Given the description of an element on the screen output the (x, y) to click on. 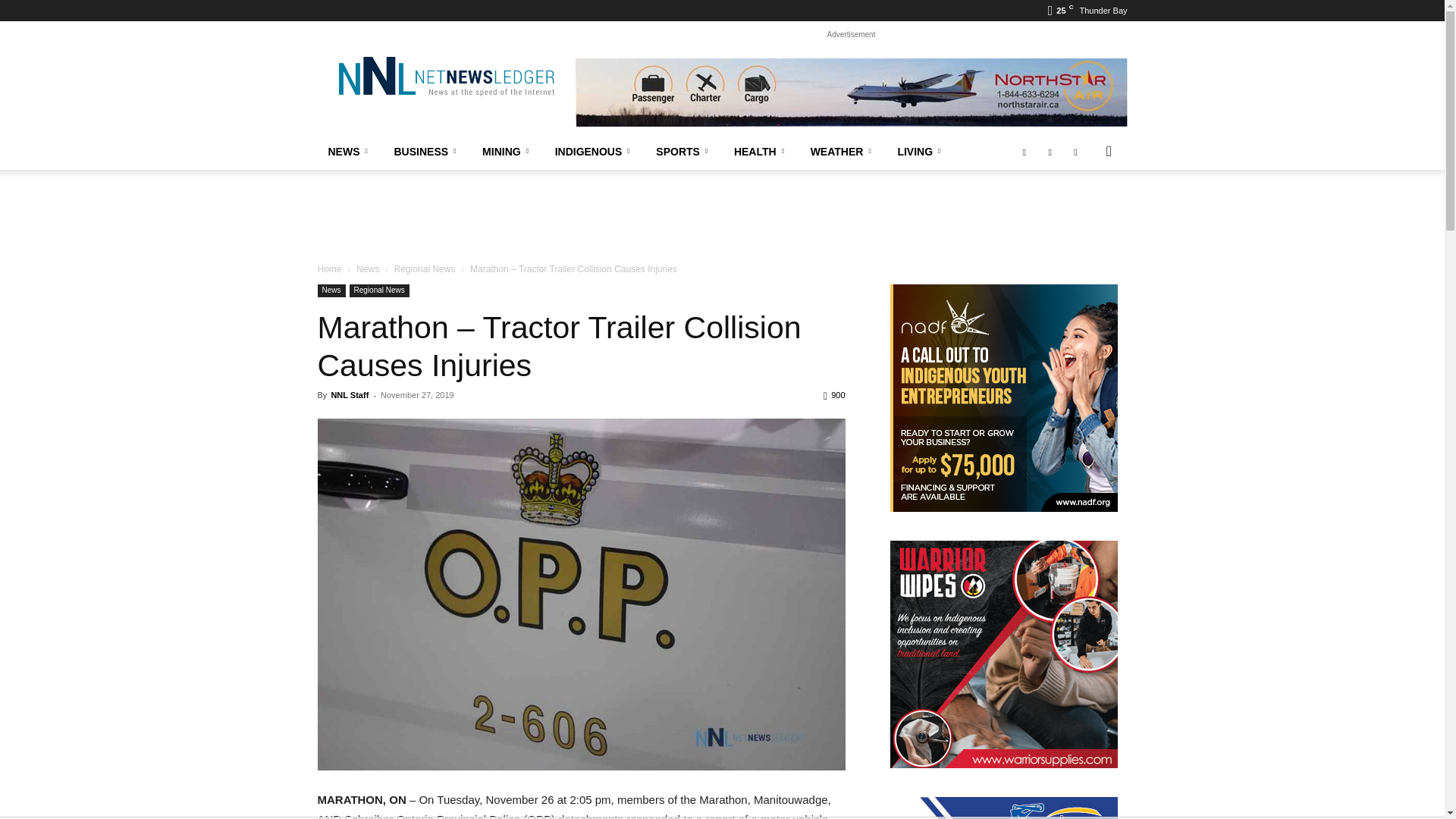
NetNewsLedger (445, 76)
View all posts in News (367, 268)
View all posts in Regional News (424, 268)
North Star Air (850, 92)
